Given the description of an element on the screen output the (x, y) to click on. 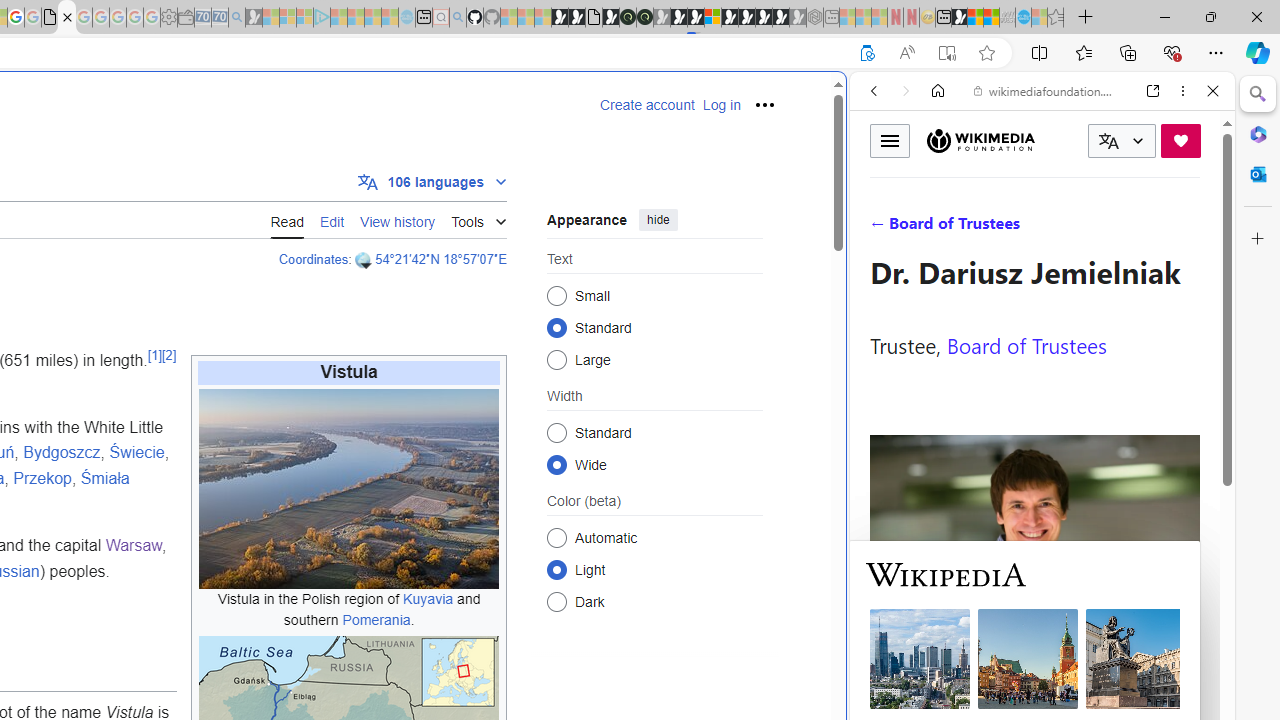
Frequently visited (418, 265)
wikimediafoundation.org (1045, 90)
Toggle menu (890, 140)
Tools (478, 218)
Search Filter, IMAGES (939, 228)
Wikimedia Foundation (980, 141)
Search the web (1051, 137)
Settings - Sleeping (168, 17)
